Given the description of an element on the screen output the (x, y) to click on. 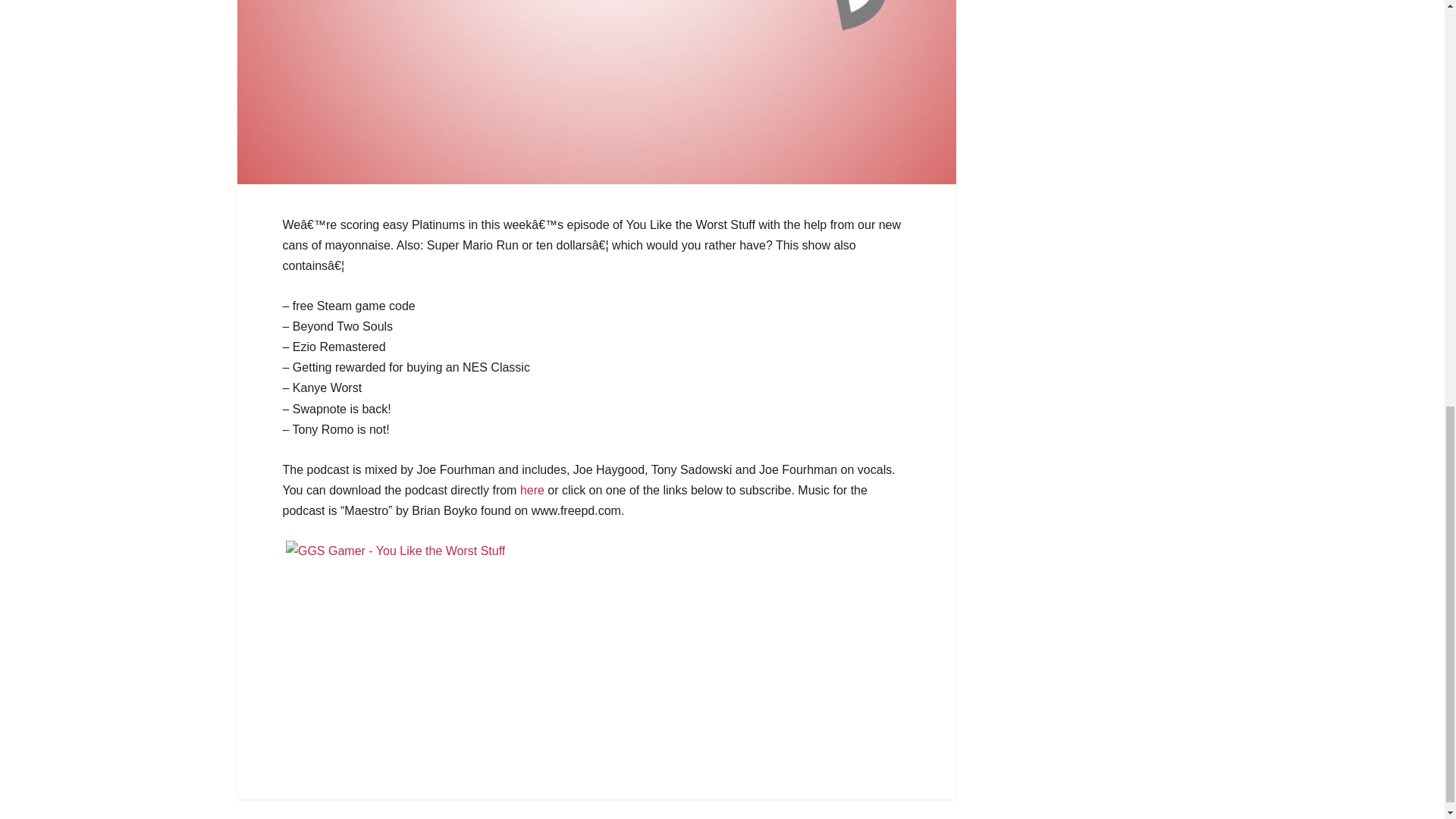
You Like the Worst Stuff Episode 207 (531, 490)
here (531, 490)
